Given the description of an element on the screen output the (x, y) to click on. 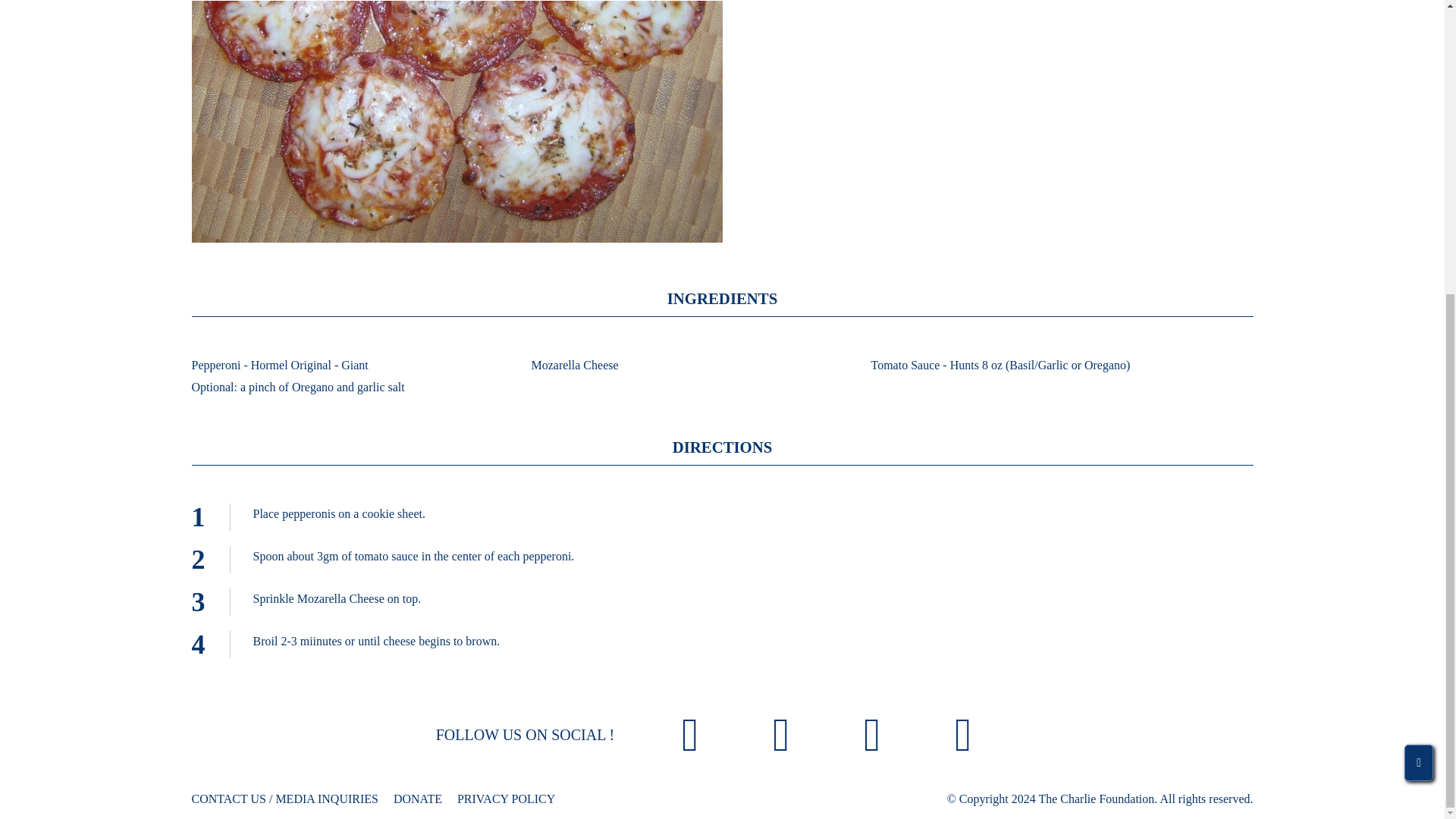
Facebook (689, 737)
DONATE (417, 798)
Instagram (780, 737)
YouTube (962, 737)
Twitter (871, 737)
PRIVACY POLICY (505, 798)
